Given the description of an element on the screen output the (x, y) to click on. 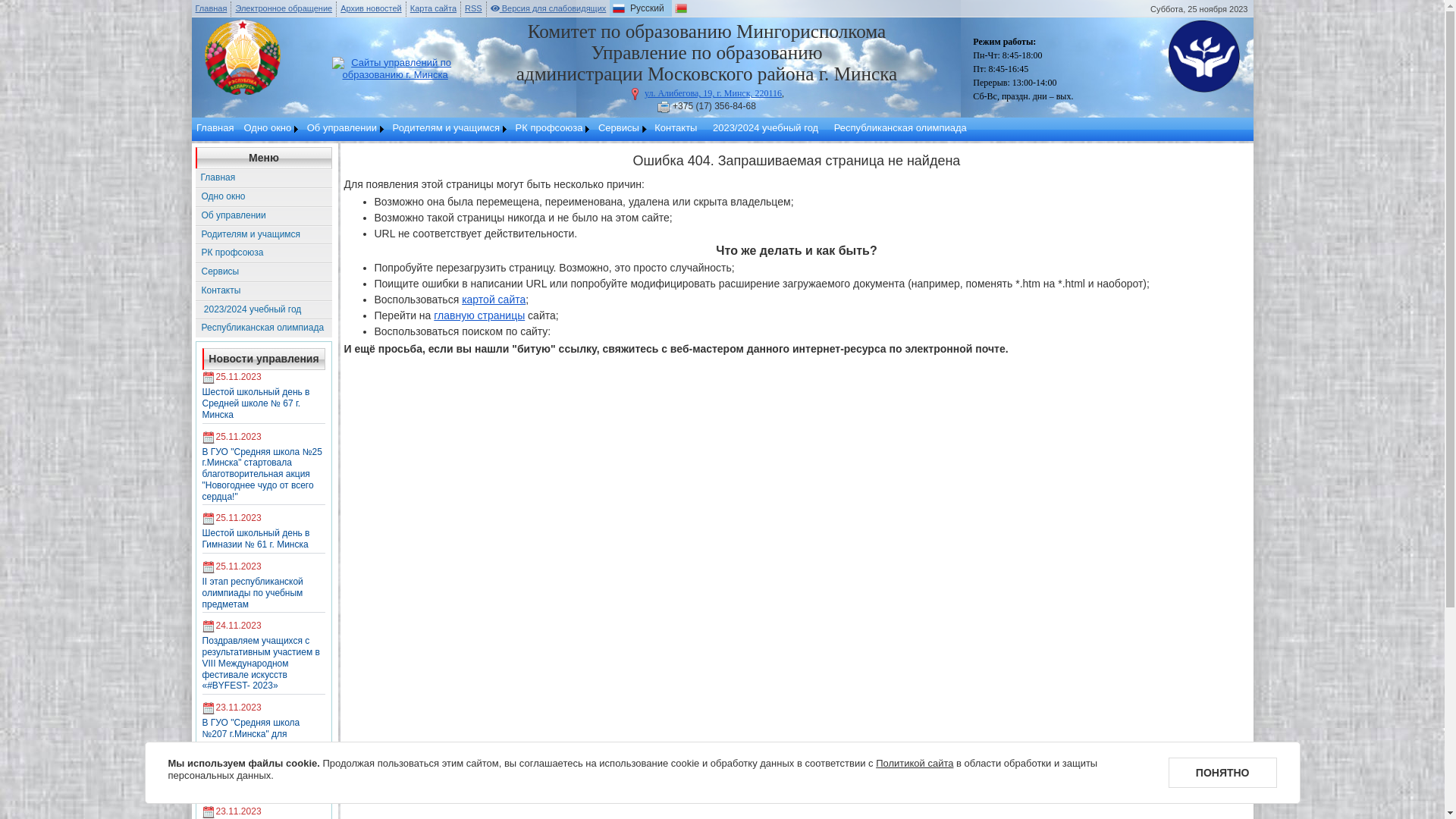
RSS Element type: text (473, 8)
